Given the description of an element on the screen output the (x, y) to click on. 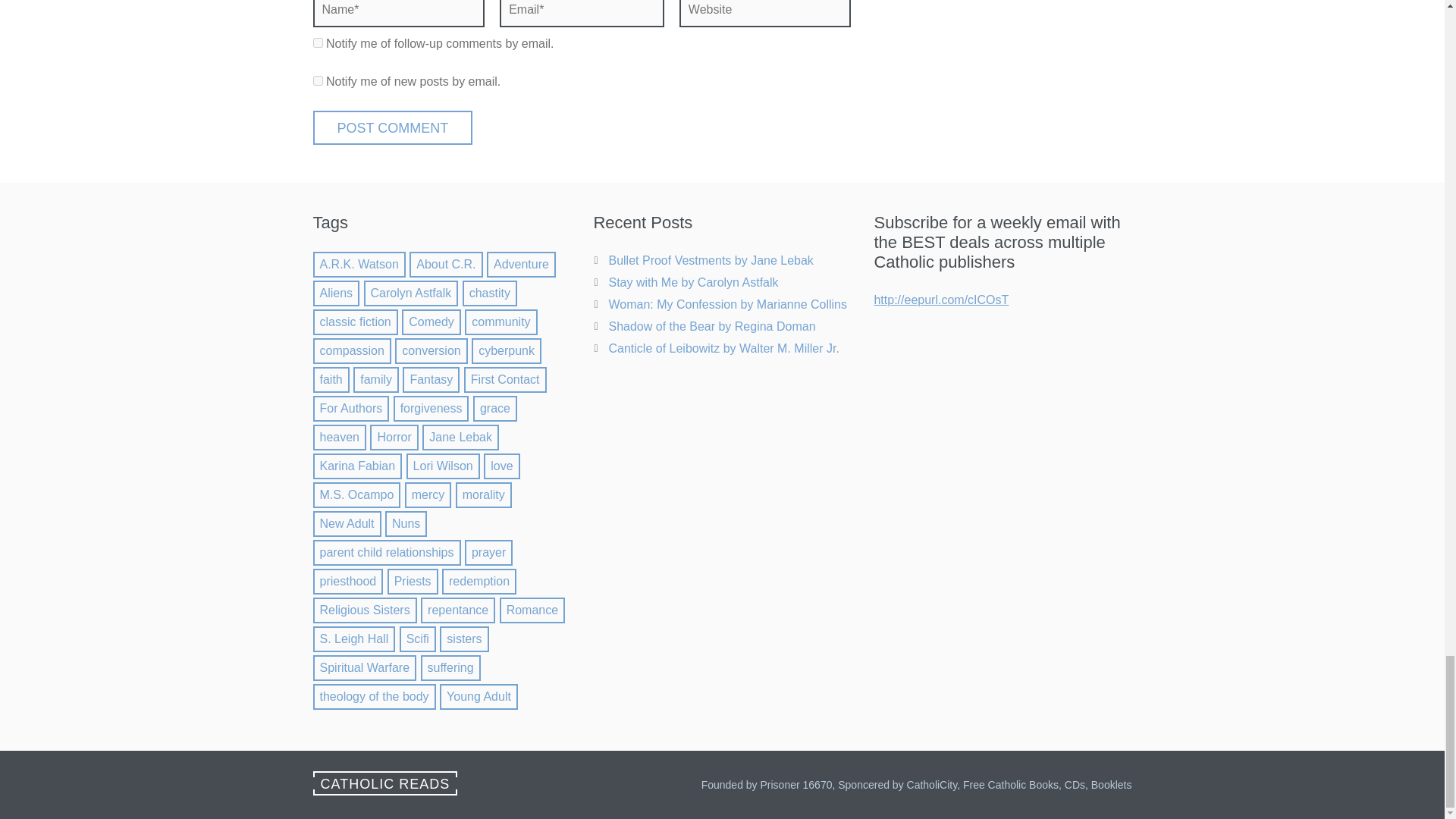
Post Comment (392, 127)
subscribe (317, 42)
subscribe (317, 80)
